Given the description of an element on the screen output the (x, y) to click on. 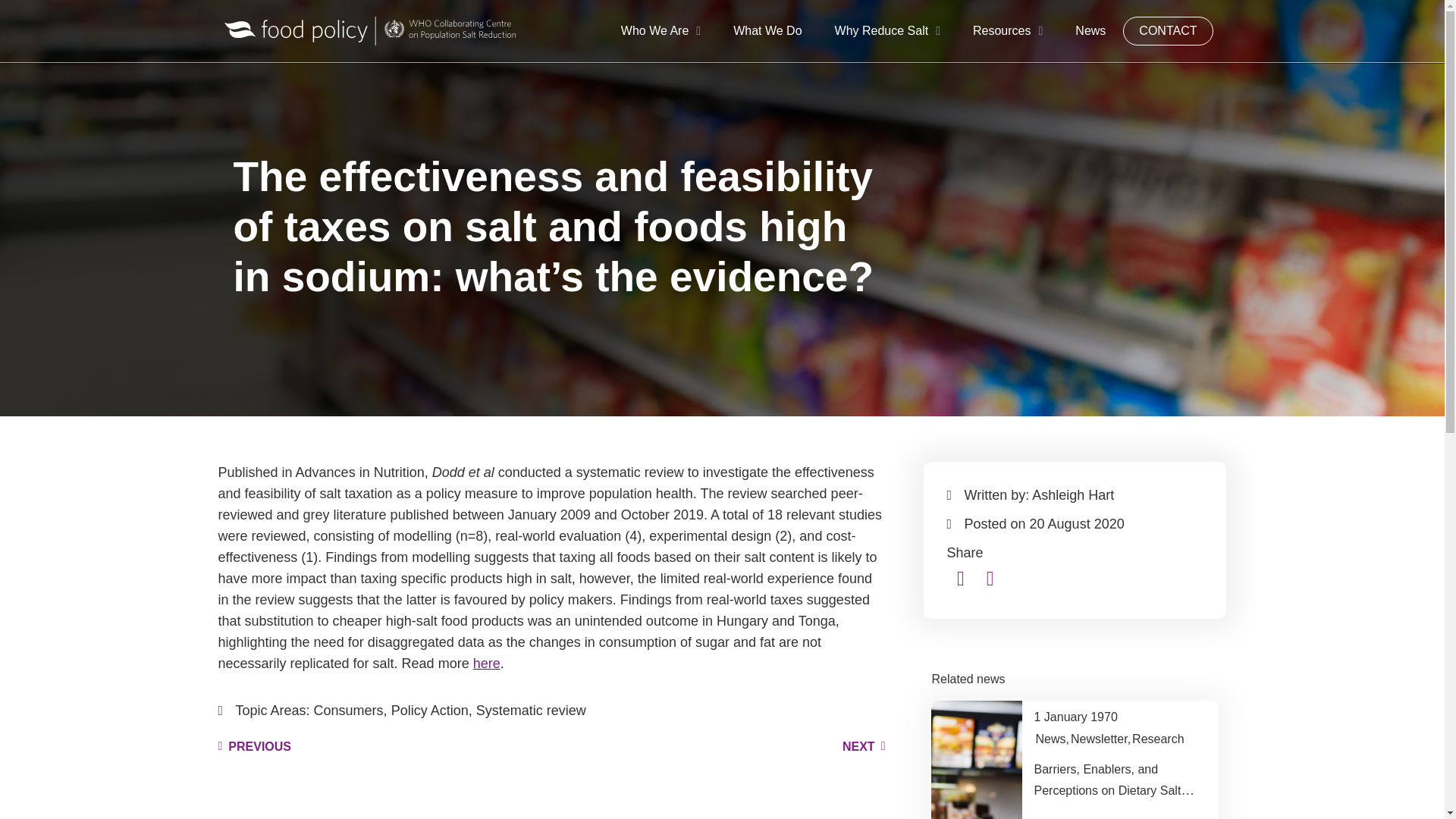
What We Do (766, 30)
News (1090, 30)
Why Reduce Salt (887, 30)
Who We Are (660, 30)
CONTACT (1167, 30)
FP WHOCC Web ID White (369, 31)
Resources (1008, 30)
